Given the description of an element on the screen output the (x, y) to click on. 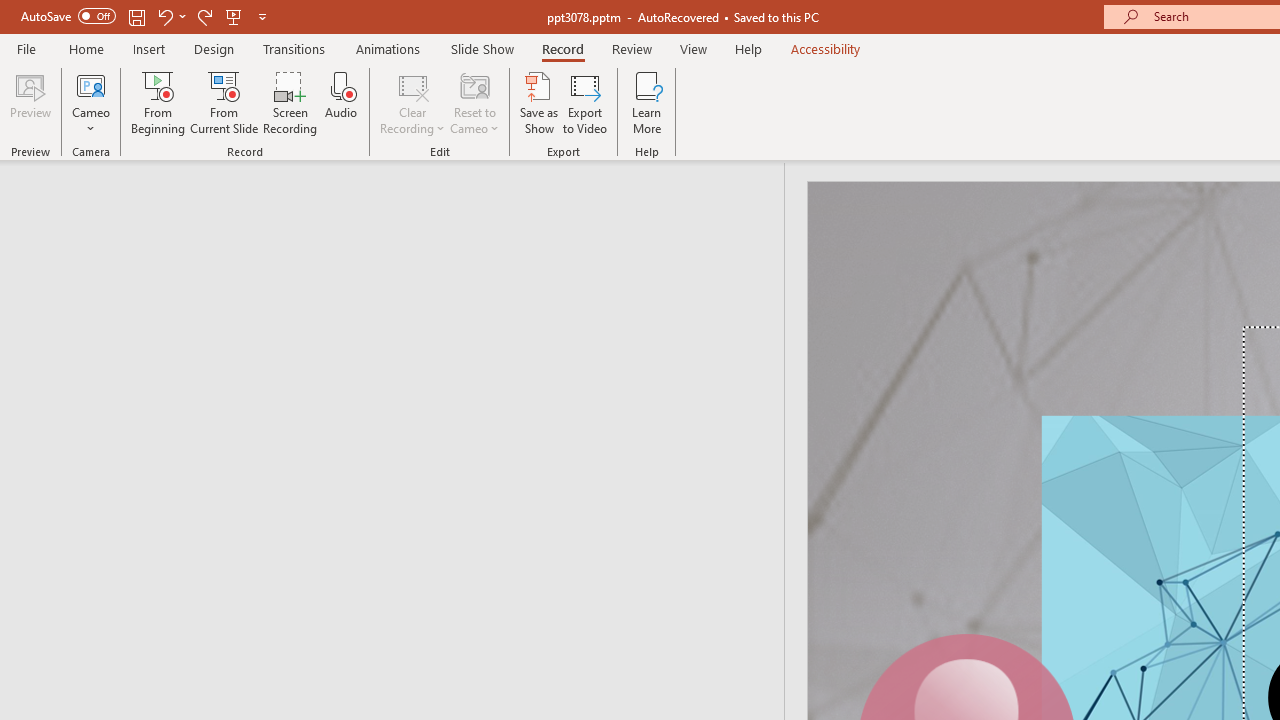
Clear Recording (412, 102)
Export to Video (585, 102)
Learn More (646, 102)
